Given the description of an element on the screen output the (x, y) to click on. 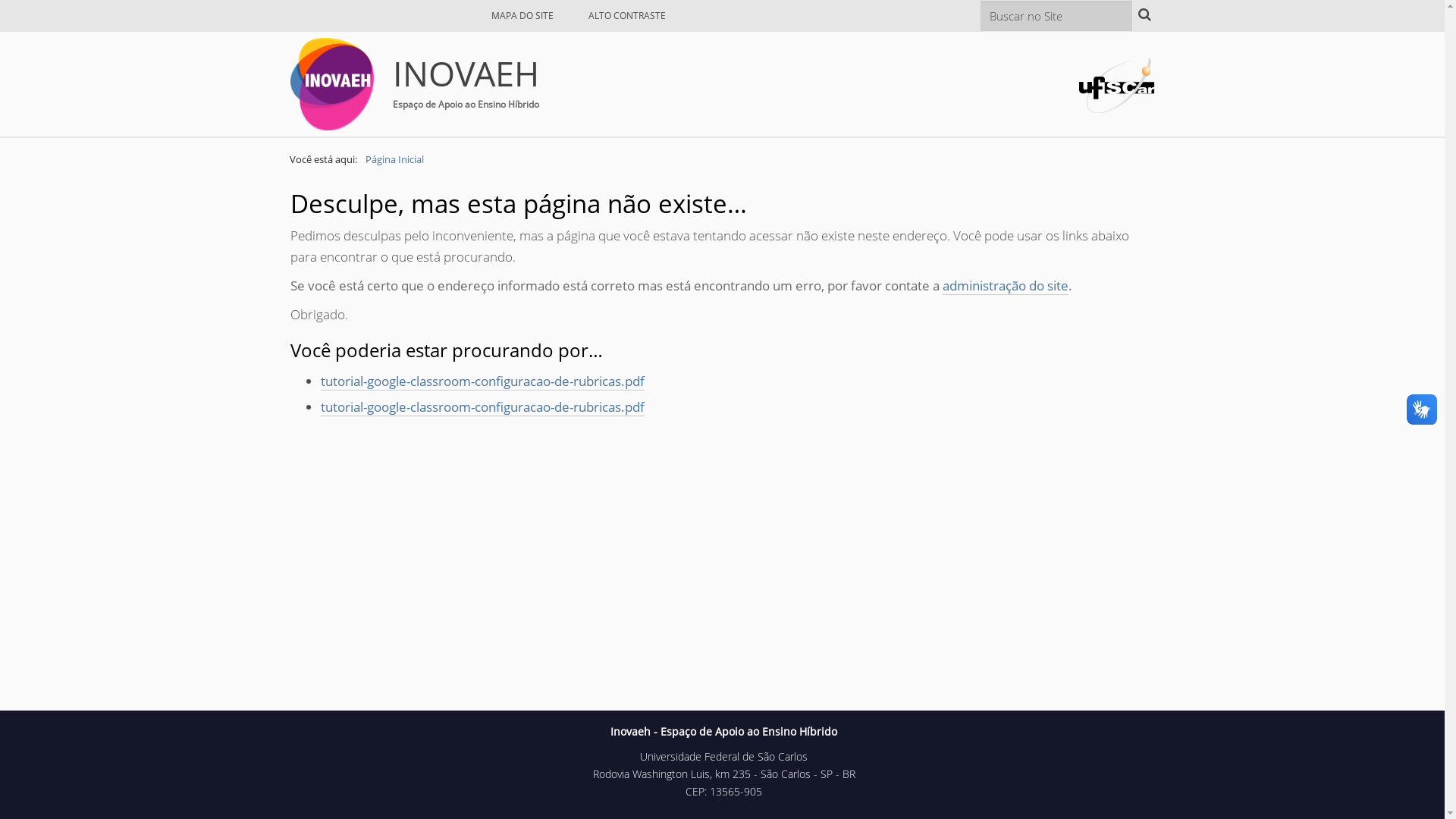
Buscar no Site Element type: hover (1055, 15)
MAPA DO SITE Element type: text (522, 15)
tutorial-google-classroom-configuracao-de-rubricas.pdf Element type: text (481, 381)
INOVAEH Element type: hover (331, 83)
ALTO CONTRASTE Element type: text (626, 15)
Portal UFSCar Element type: hover (1116, 83)
tutorial-google-classroom-configuracao-de-rubricas.pdf Element type: text (481, 407)
